Given the description of an element on the screen output the (x, y) to click on. 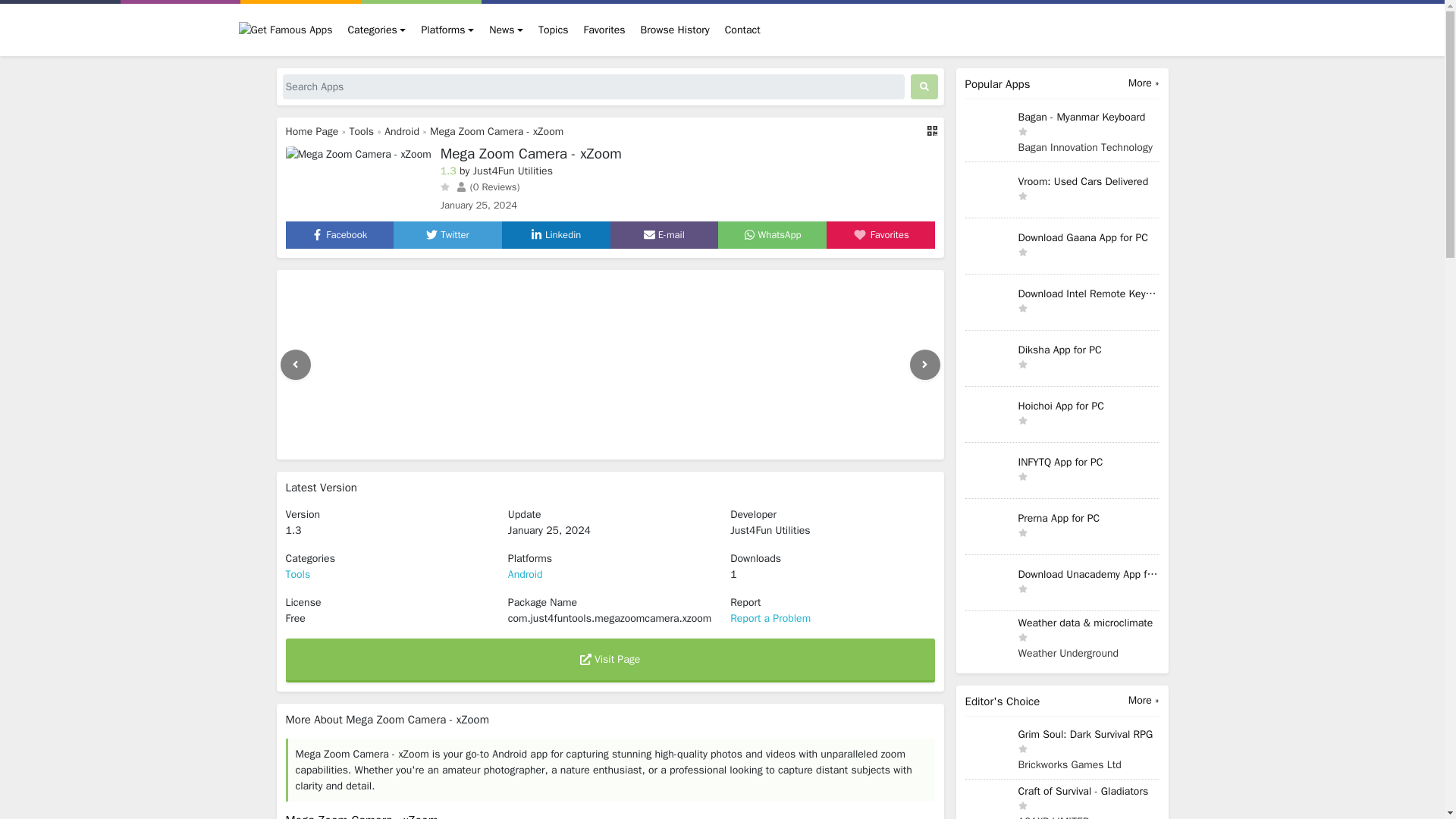
Categories (376, 29)
